Given the description of an element on the screen output the (x, y) to click on. 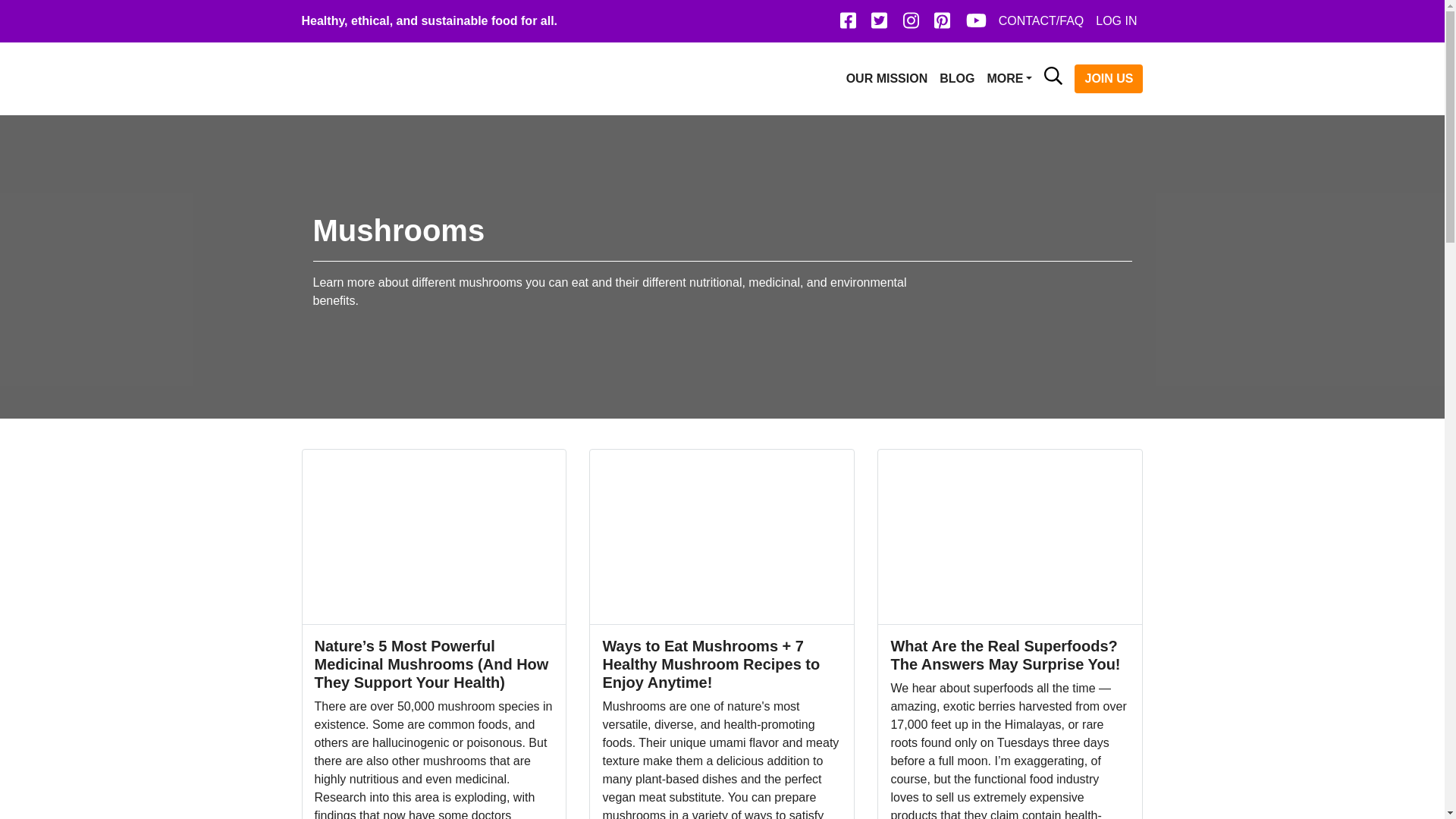
Pinterest (942, 24)
JOIN US (1108, 77)
Instagram (910, 24)
Food Revolution Network (373, 77)
YoutTube (975, 24)
Food Revolution Network (373, 77)
Twitter (878, 24)
Facebook (847, 24)
LOG IN (1115, 20)
OUR MISSION (887, 78)
Our Mission (887, 78)
Healthy, ethical, and sustainable food for all. (429, 20)
